Given the description of an element on the screen output the (x, y) to click on. 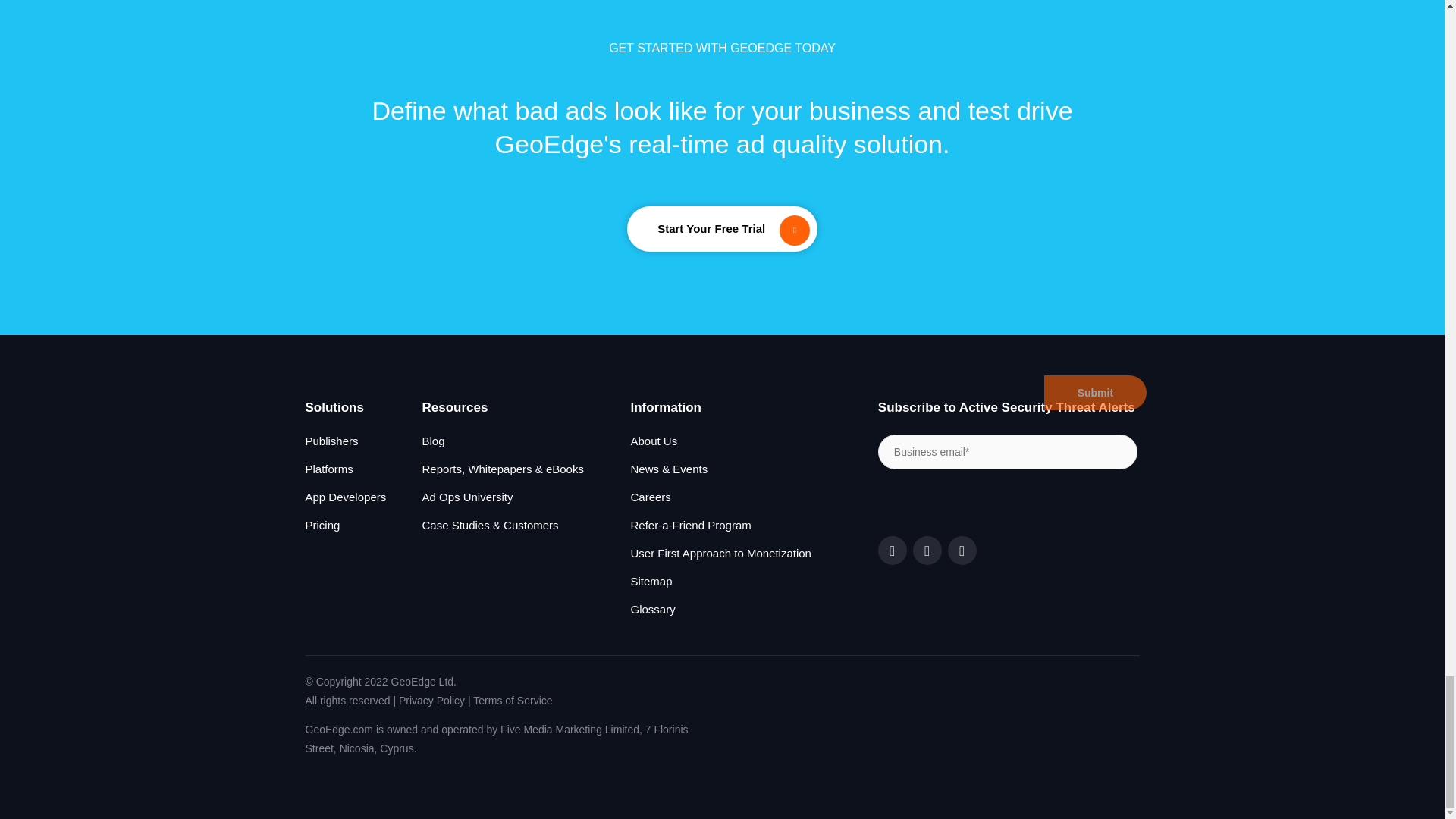
Submit (1095, 392)
